Given the description of an element on the screen output the (x, y) to click on. 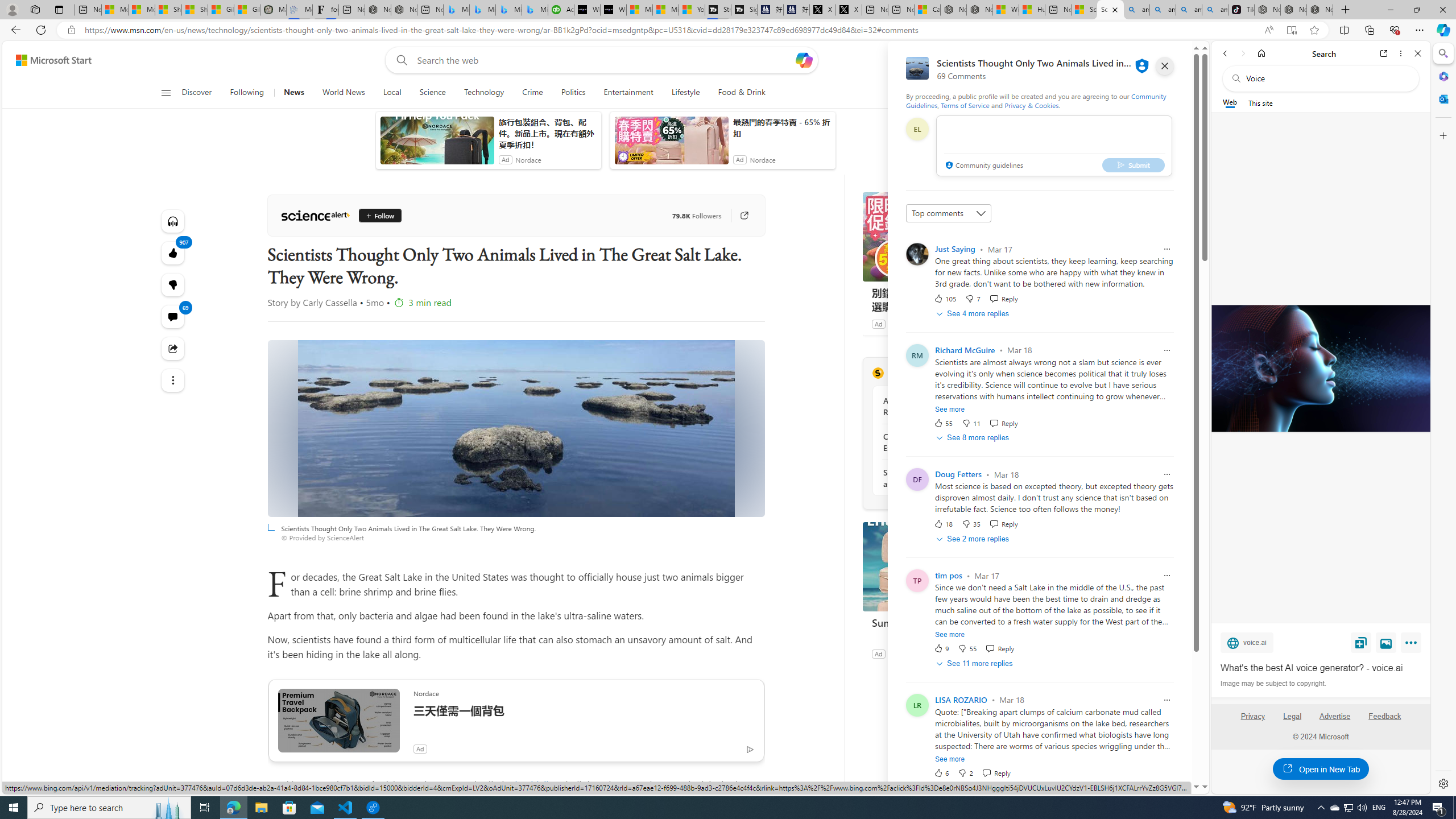
Browser essentials (1394, 29)
View comments 69 Comment (172, 316)
Doug Fetters (958, 474)
Personalize (1006, 92)
Back (1225, 53)
Streaming Coverage | T3 (717, 9)
6 Like (940, 772)
See 8 more replies (973, 437)
View site information (70, 29)
Entertainment (628, 92)
tim pos (948, 575)
Politics (573, 92)
